Given the description of an element on the screen output the (x, y) to click on. 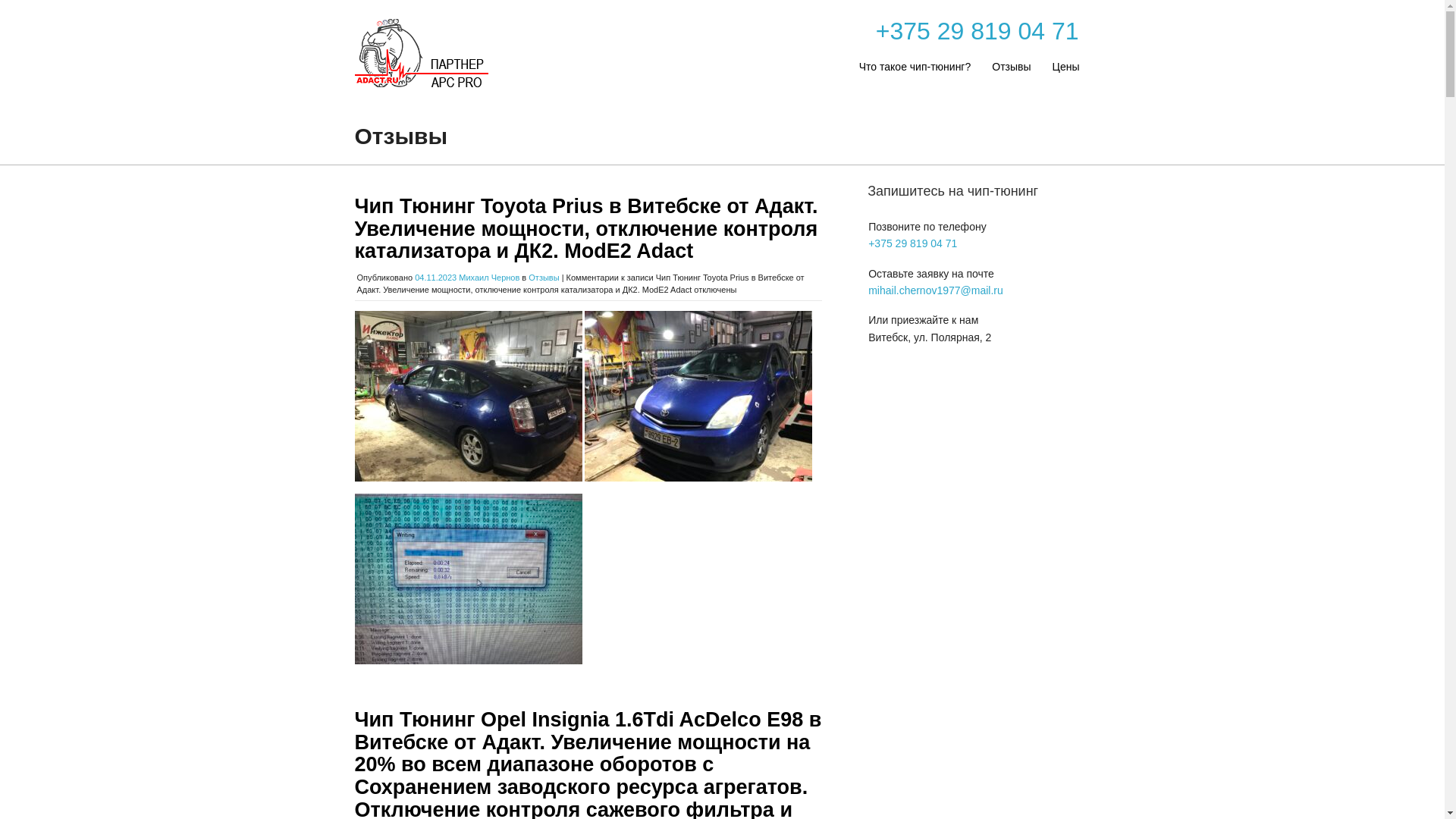
mihail.chernov1977@mail.ru Element type: text (935, 290)
04.11.2023 Element type: text (435, 277)
+375 29 819 04 71 Element type: text (977, 30)
+375 29 819 04 71 Element type: text (912, 243)
